Given the description of an element on the screen output the (x, y) to click on. 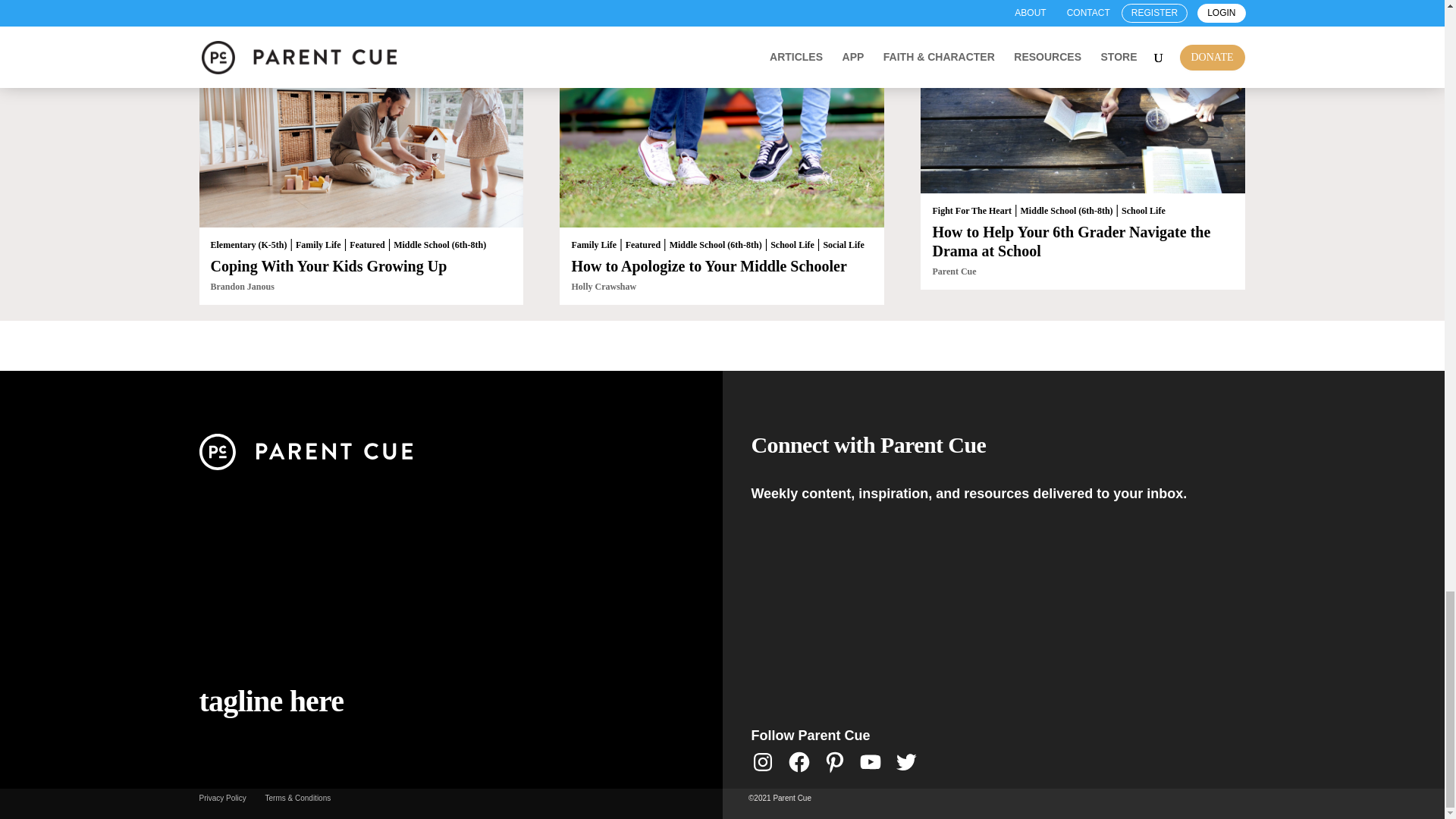
How to Apologize to Your Middle Schooler (721, 119)
Coping With Your Kids Growing Up (328, 265)
How to Help Your 6th Grader Navigate the Drama at School (1082, 102)
Posts by Holly Crawshaw (603, 286)
Posts by Brandon Janous (243, 286)
How to Apologize to Your Middle Schooler (707, 265)
Coping With Your Kids Growing Up (360, 119)
